Given the description of an element on the screen output the (x, y) to click on. 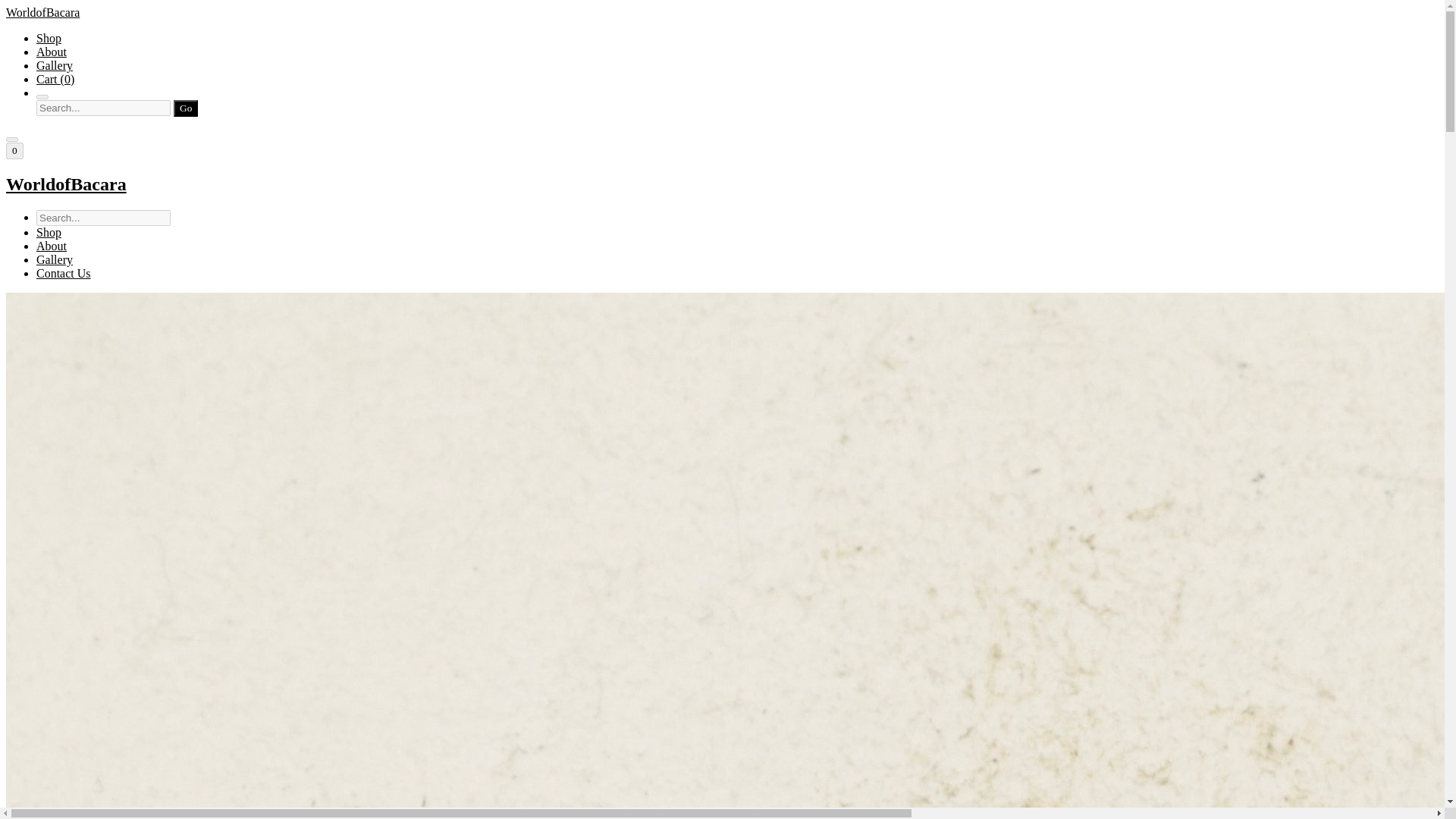
WorldofBacara (721, 184)
Gallery (54, 259)
0 (14, 150)
About (51, 51)
Contact Us (63, 273)
About (51, 245)
Gallery (54, 65)
Go (185, 108)
Shop (48, 232)
Go (185, 108)
Shop (48, 38)
